Given the description of an element on the screen output the (x, y) to click on. 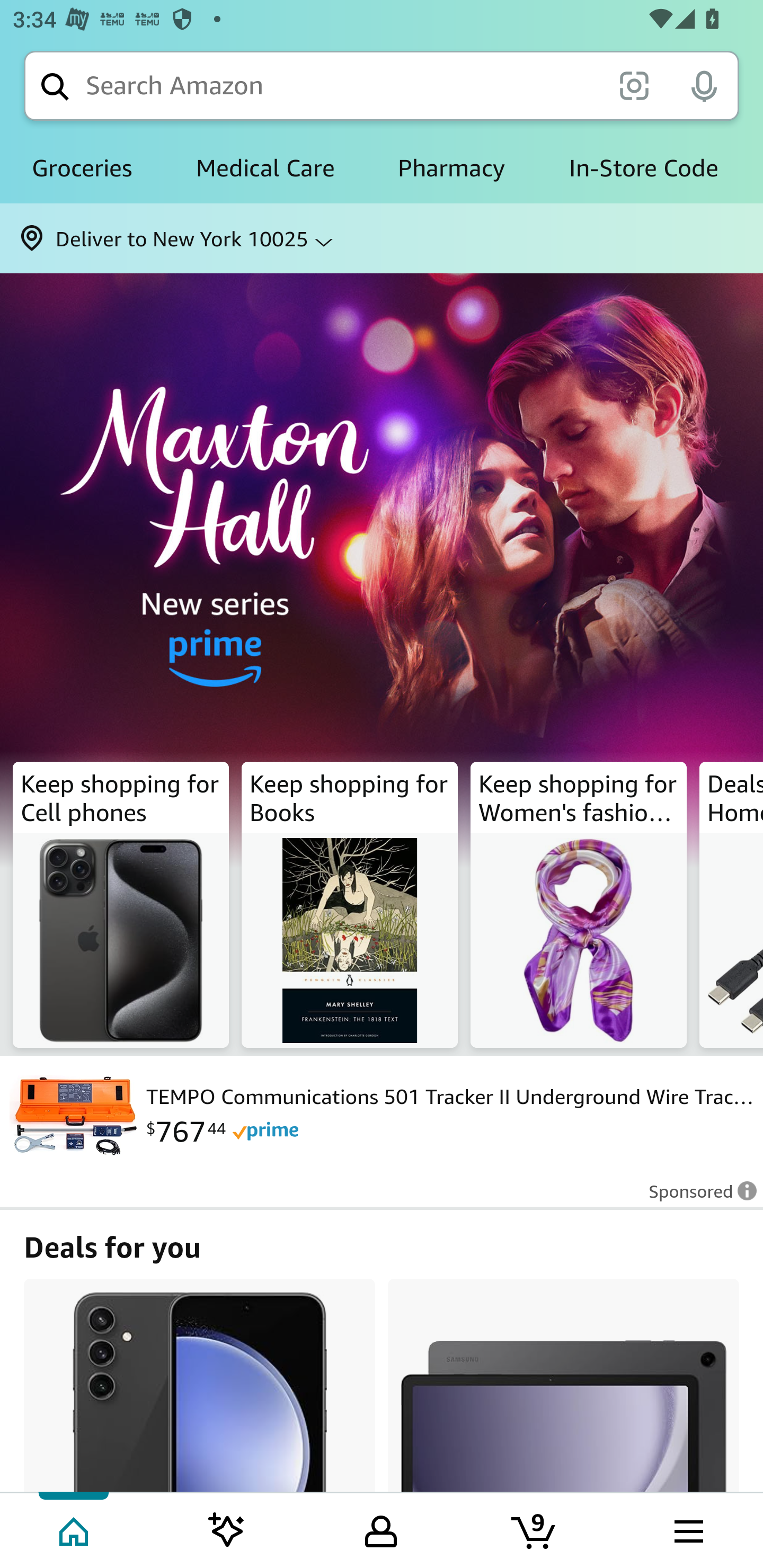
scan it (633, 85)
Groceries (82, 168)
Medical Care (265, 168)
Pharmacy (451, 168)
In-Store Code (643, 168)
Deliver to New York 10025 ⌵ (381, 237)
Keep shopping for Books Keep shopping for Books (349, 904)
Leave feedback on Sponsored ad Sponsored  (696, 1196)
Home Tab 1 of 5 (75, 1529)
Inspire feed Tab 2 of 5 (227, 1529)
Your Amazon.com Tab 3 of 5 (380, 1529)
Cart 9 items Tab 4 of 5 9 (534, 1529)
Browse menu Tab 5 of 5 (687, 1529)
